Given the description of an element on the screen output the (x, y) to click on. 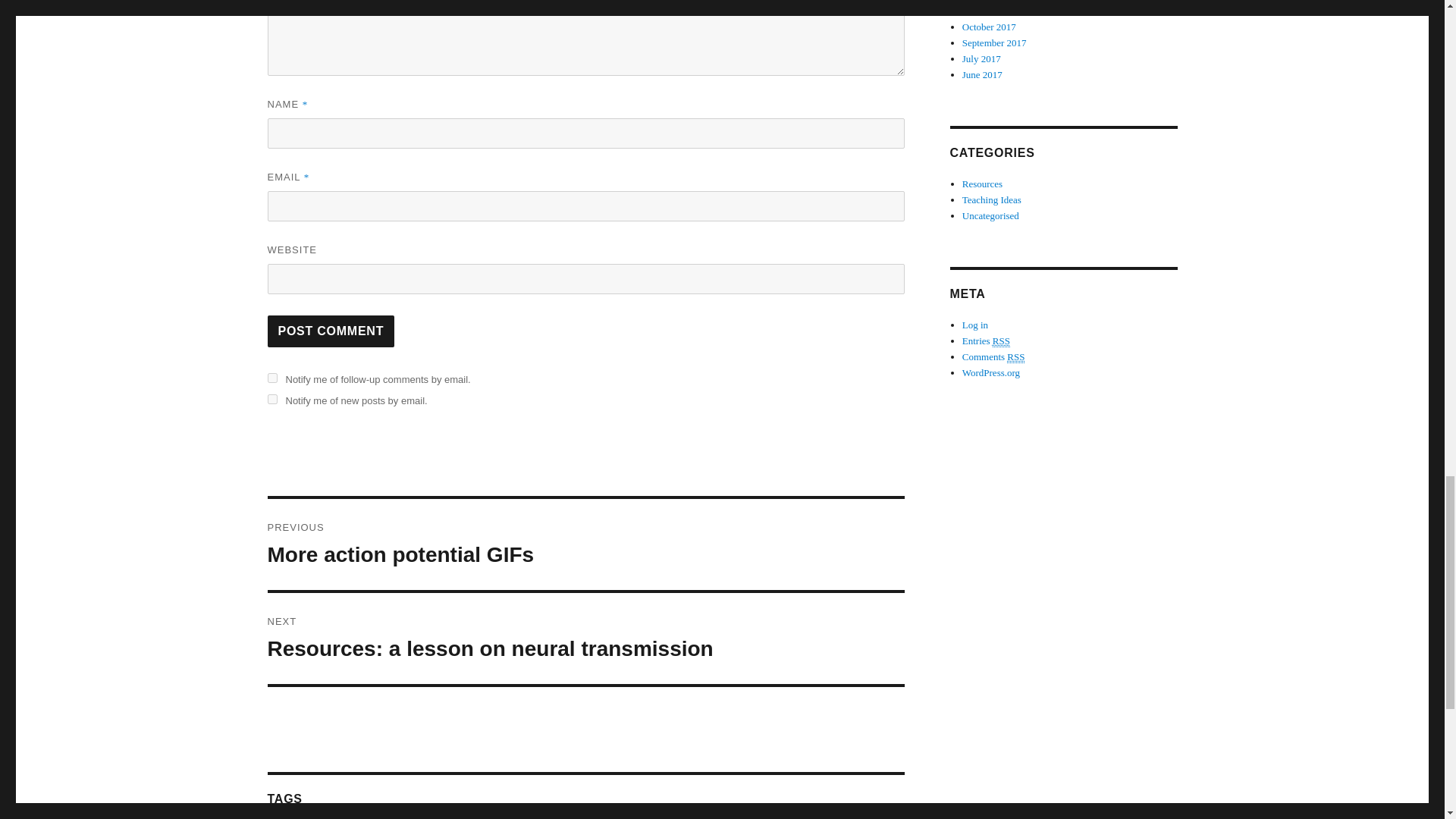
Post Comment (585, 637)
Really Simple Syndication (330, 331)
Really Simple Syndication (1001, 340)
subscribe (1016, 357)
Post Comment (585, 543)
subscribe (271, 398)
